Given the description of an element on the screen output the (x, y) to click on. 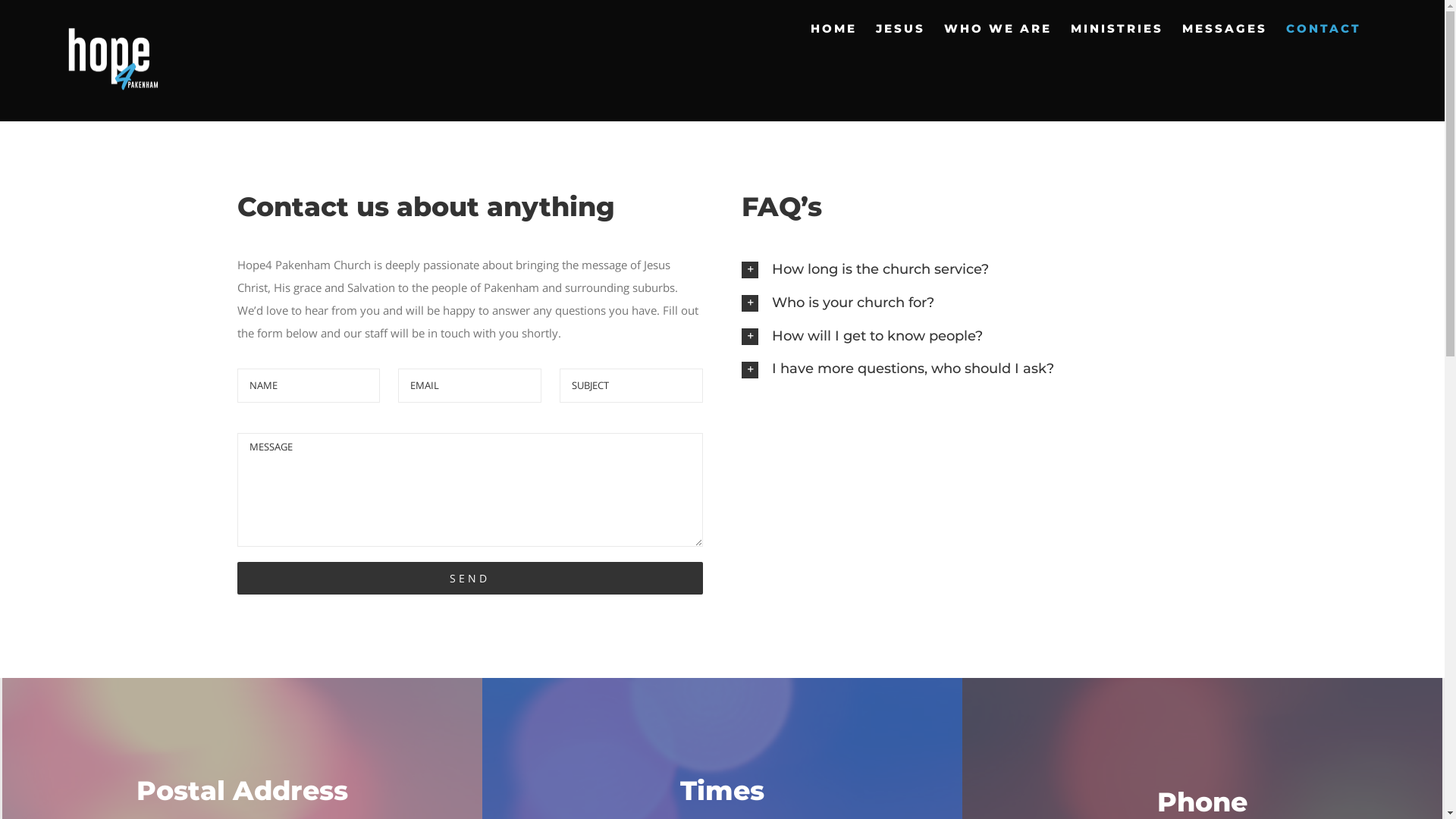
Send Element type: text (469, 577)
MESSAGES Element type: text (1224, 27)
How long is the church service? Element type: text (974, 269)
Who is your church for? Element type: text (974, 303)
HOME Element type: text (833, 27)
How will I get to know people? Element type: text (974, 336)
CONTACT Element type: text (1323, 27)
WHO WE ARE Element type: text (997, 27)
MINISTRIES Element type: text (1116, 27)
JESUS Element type: text (900, 27)
I have more questions, who should I ask? Element type: text (974, 368)
